Given the description of an element on the screen output the (x, y) to click on. 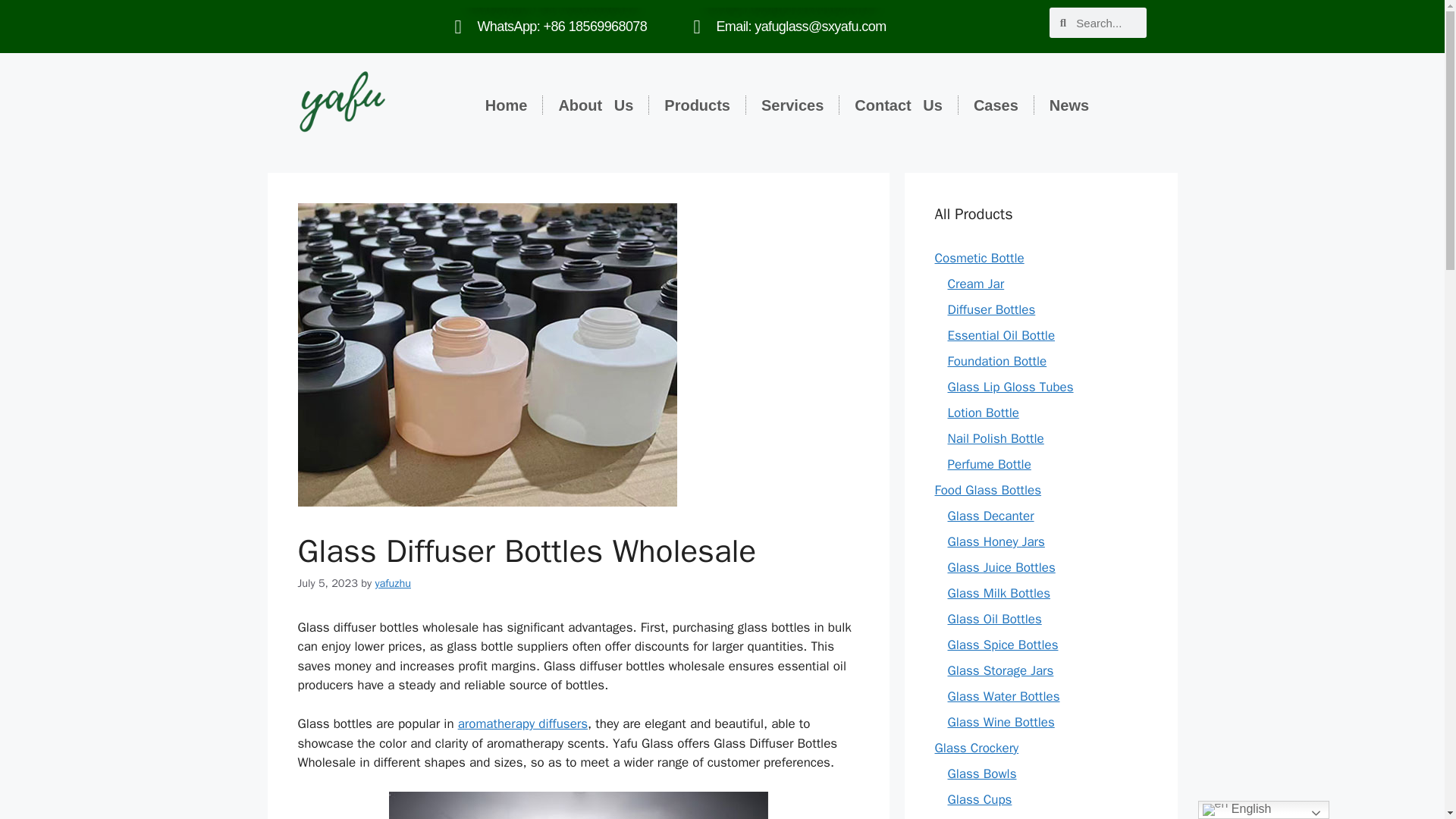
About Us (595, 104)
Products (697, 104)
Home (506, 104)
View all posts by yafuzhu (392, 582)
